Given the description of an element on the screen output the (x, y) to click on. 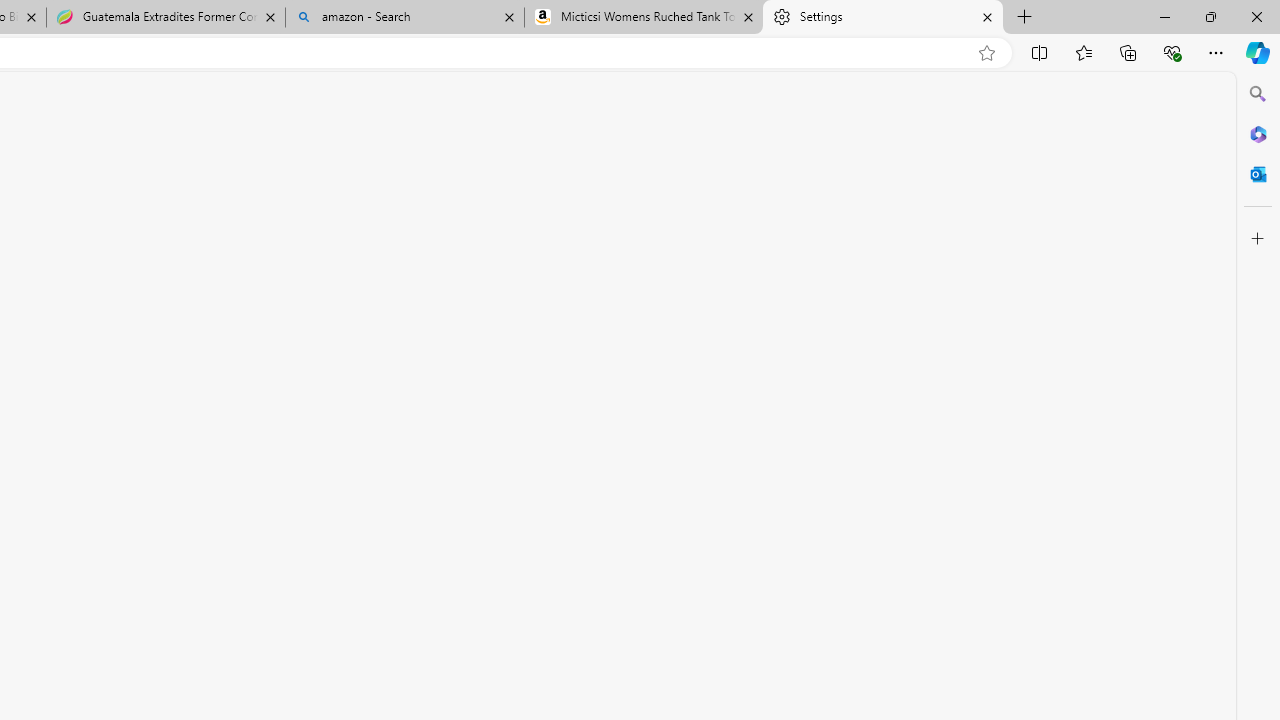
amazon - Search (404, 17)
Outlook (1258, 174)
